Given the description of an element on the screen output the (x, y) to click on. 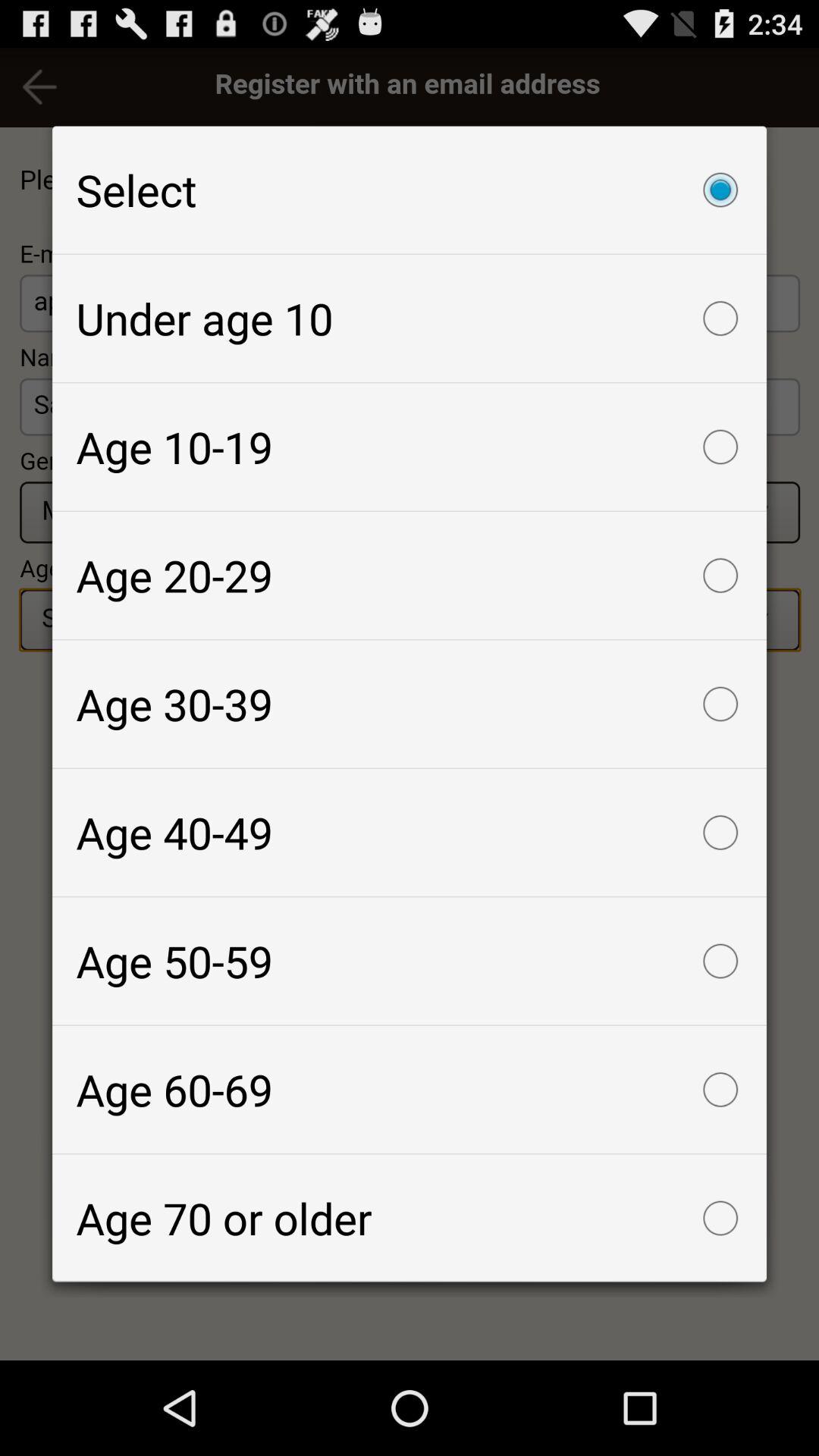
tap the item above age 60-69 icon (409, 960)
